Given the description of an element on the screen output the (x, y) to click on. 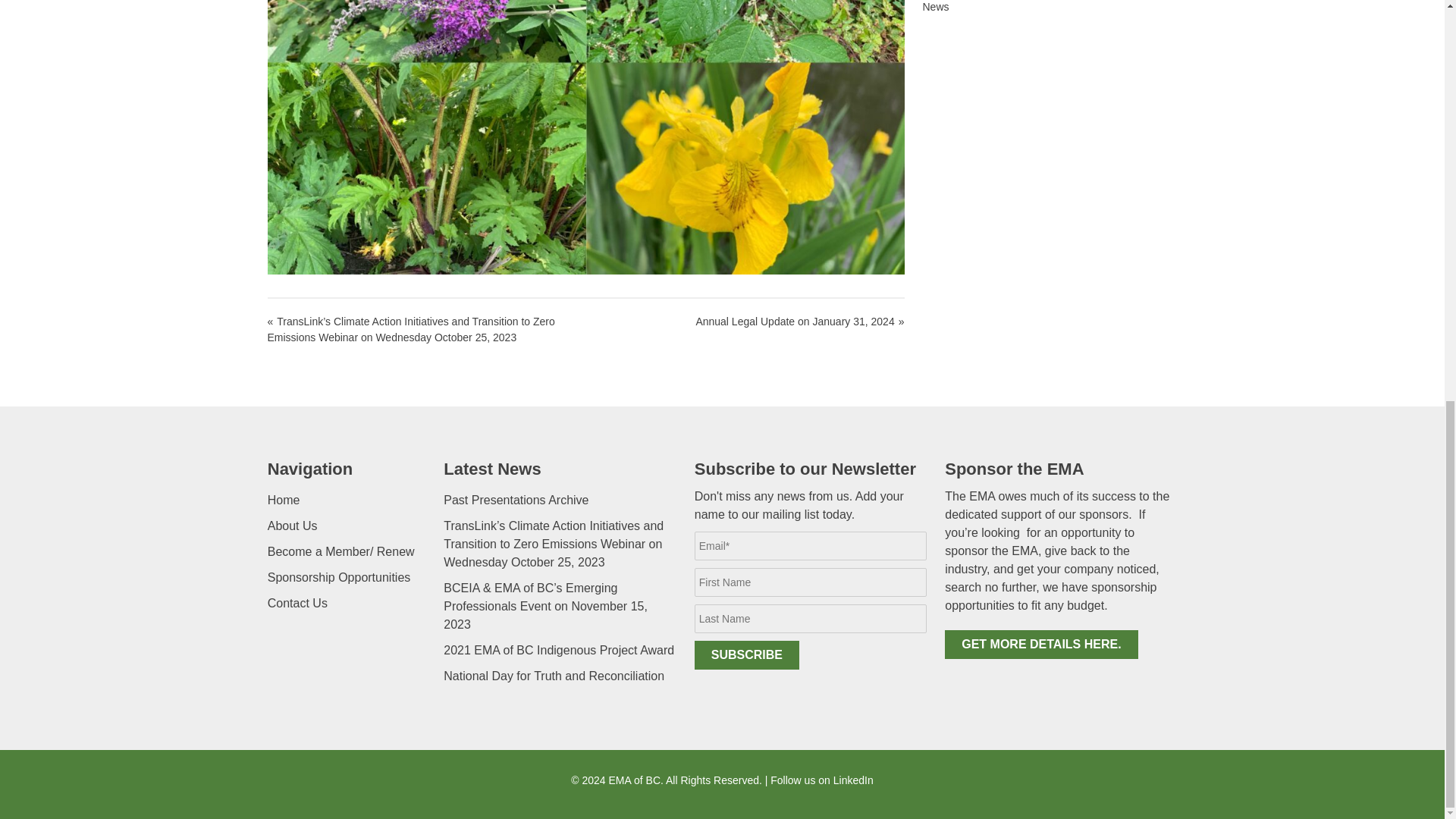
About Us (292, 525)
Annual Legal Update on January 31, 2024 (744, 321)
Subscribe (746, 654)
News (935, 6)
Home (283, 499)
Sponsorship Opportunities (338, 576)
Contact Us (297, 603)
